Given the description of an element on the screen output the (x, y) to click on. 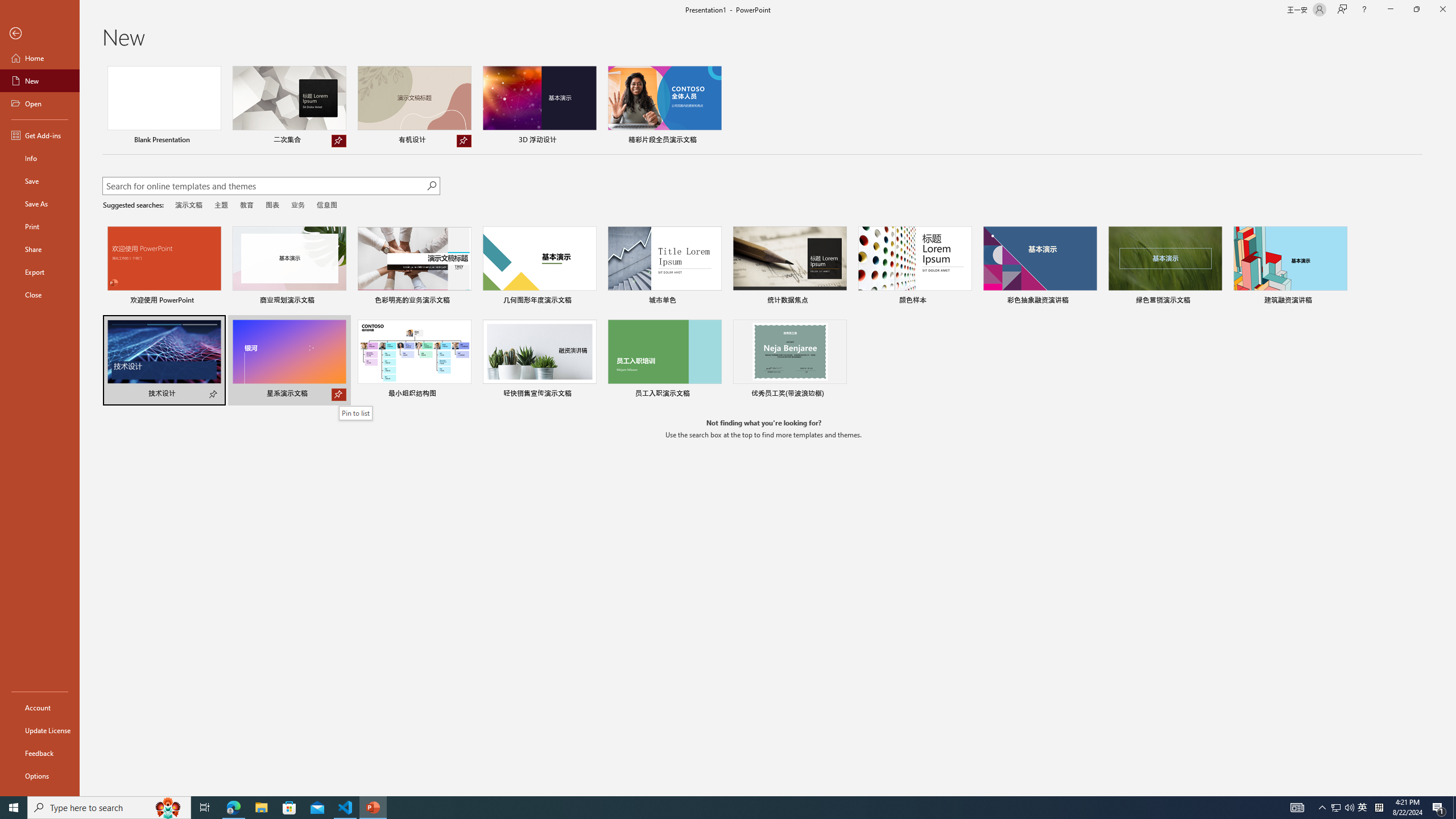
Start searching (431, 185)
Unpin from list (464, 141)
Pin to list (355, 413)
New (40, 80)
